Given the description of an element on the screen output the (x, y) to click on. 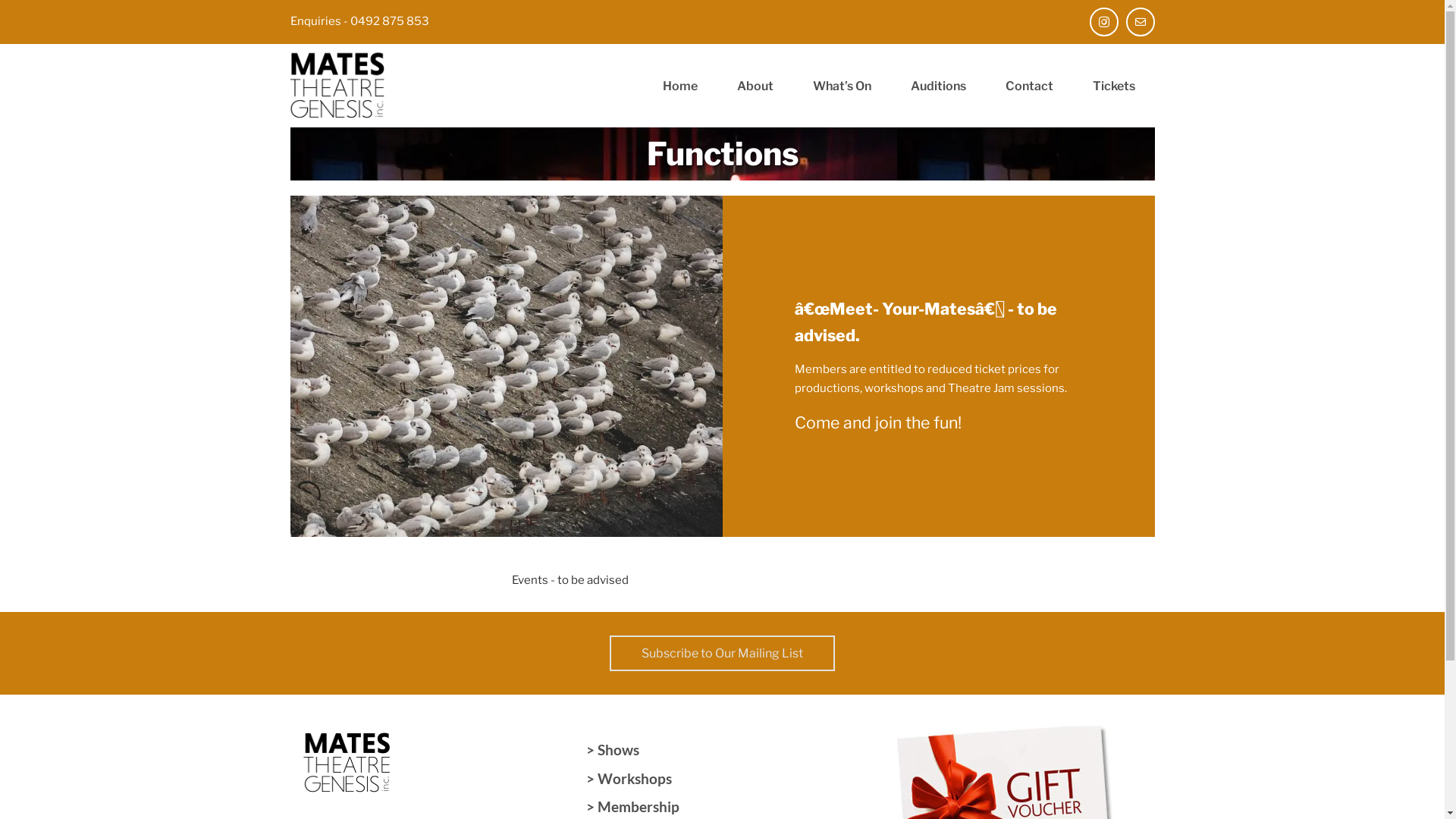
Company-Brand-LogoType_Black_300ppi Element type: hover (346, 762)
Tickets Element type: text (1113, 86)
Shows Element type: text (618, 749)
Workshops Element type: text (634, 778)
Auditions Element type: text (937, 86)
Contact Element type: text (1029, 86)
Mail to Mates Element type: hover (1140, 21)
Home Element type: text (680, 86)
Company-Brand-LogoType_Black_300ppi Element type: hover (336, 85)
About Element type: text (755, 86)
Instagram Element type: hover (1104, 21)
Subscribe to Our Mailing List Element type: text (721, 652)
Membership Element type: text (638, 808)
